Given the description of an element on the screen output the (x, y) to click on. 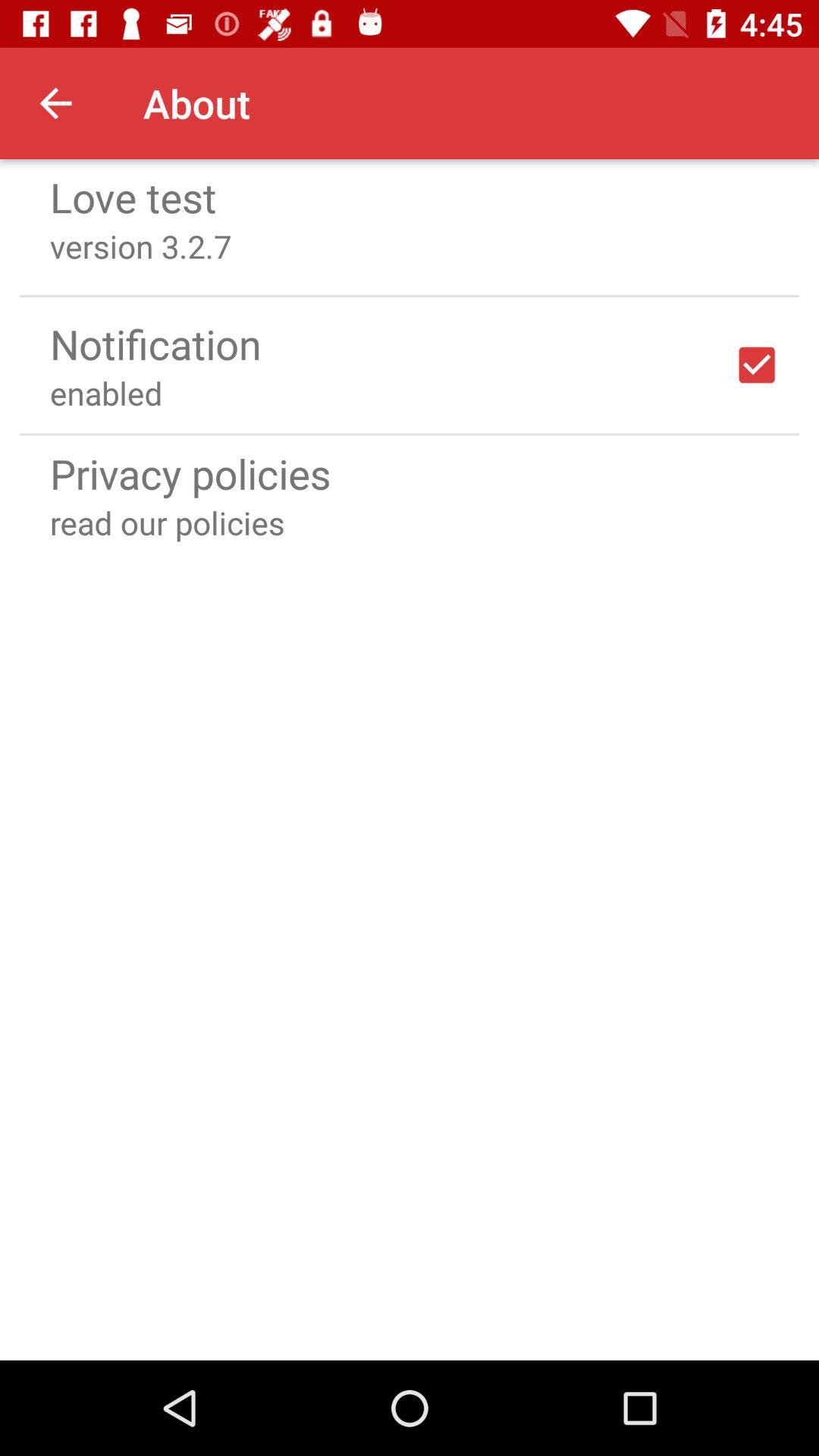
click the item below the enabled item (409, 434)
